Given the description of an element on the screen output the (x, y) to click on. 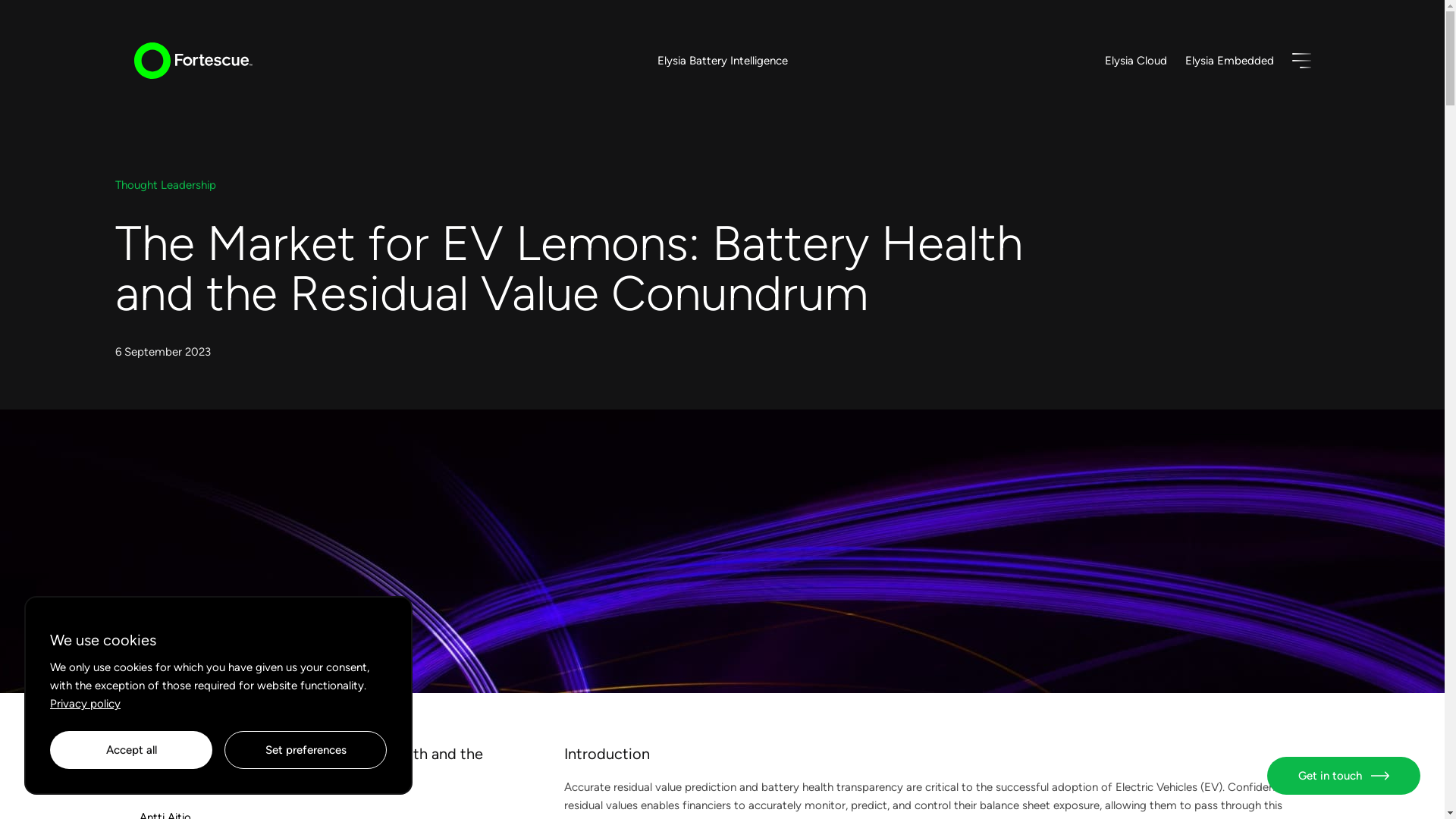
Get in touch (1343, 775)
Elysia Cloud (1134, 60)
Elysia Embedded (1228, 60)
